Given the description of an element on the screen output the (x, y) to click on. 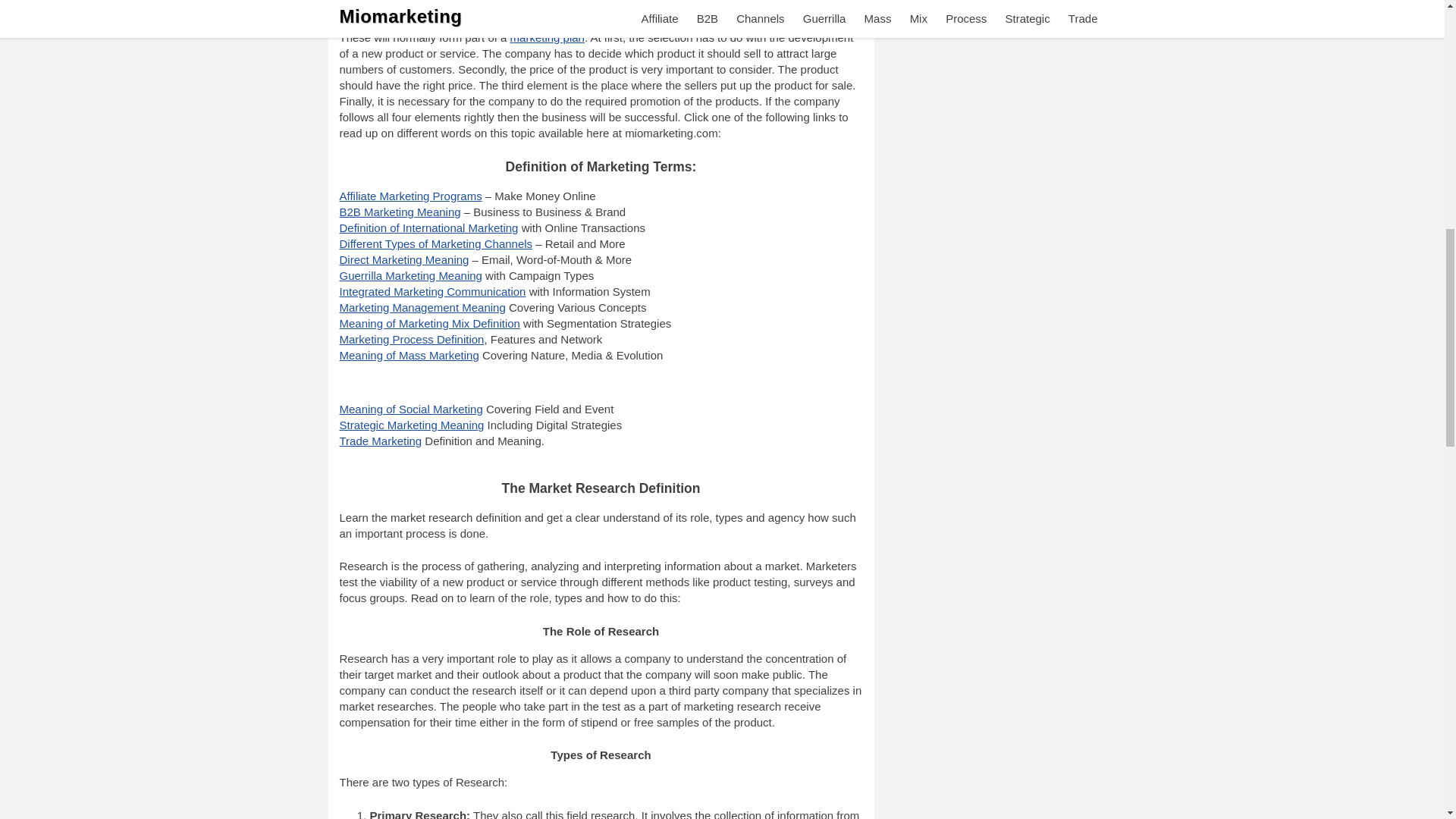
Different Types of Marketing Channels (435, 243)
marketing plan (548, 37)
Strategic Marketing Meaning (411, 424)
Definition of International Marketing (428, 227)
Marketing Management Meaning (422, 307)
Meaning of Social Marketing (411, 408)
Affiliate Marketing Programs (410, 195)
B2B Marketing Meaning (400, 211)
Meaning of Mass Marketing (409, 354)
Integrated Marketing Communication (432, 291)
Guerrilla Marketing Meaning (410, 275)
Marketing Process Definition (411, 338)
Direct Marketing Meaning (403, 259)
Meaning of Marketing Mix Definition (429, 323)
Trade Marketing (380, 440)
